Given the description of an element on the screen output the (x, y) to click on. 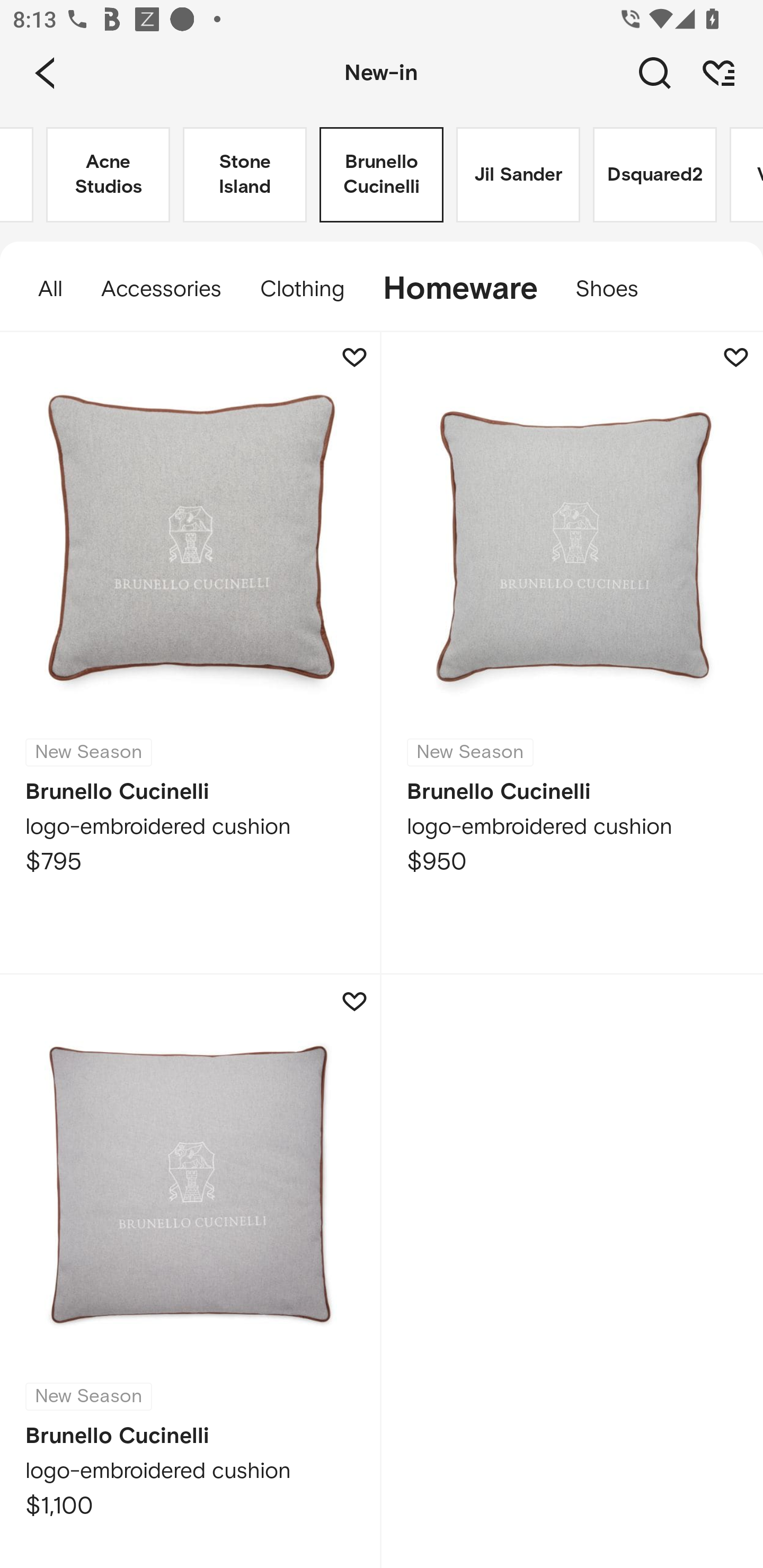
Acne Studios (107, 174)
Stone Island (244, 174)
Brunello Cucinelli (381, 174)
Jil Sander (517, 174)
Dsquared2 (654, 174)
All (40, 288)
Accessories (160, 288)
Clothing (301, 288)
Homeware (459, 288)
Shoes (616, 288)
